Given the description of an element on the screen output the (x, y) to click on. 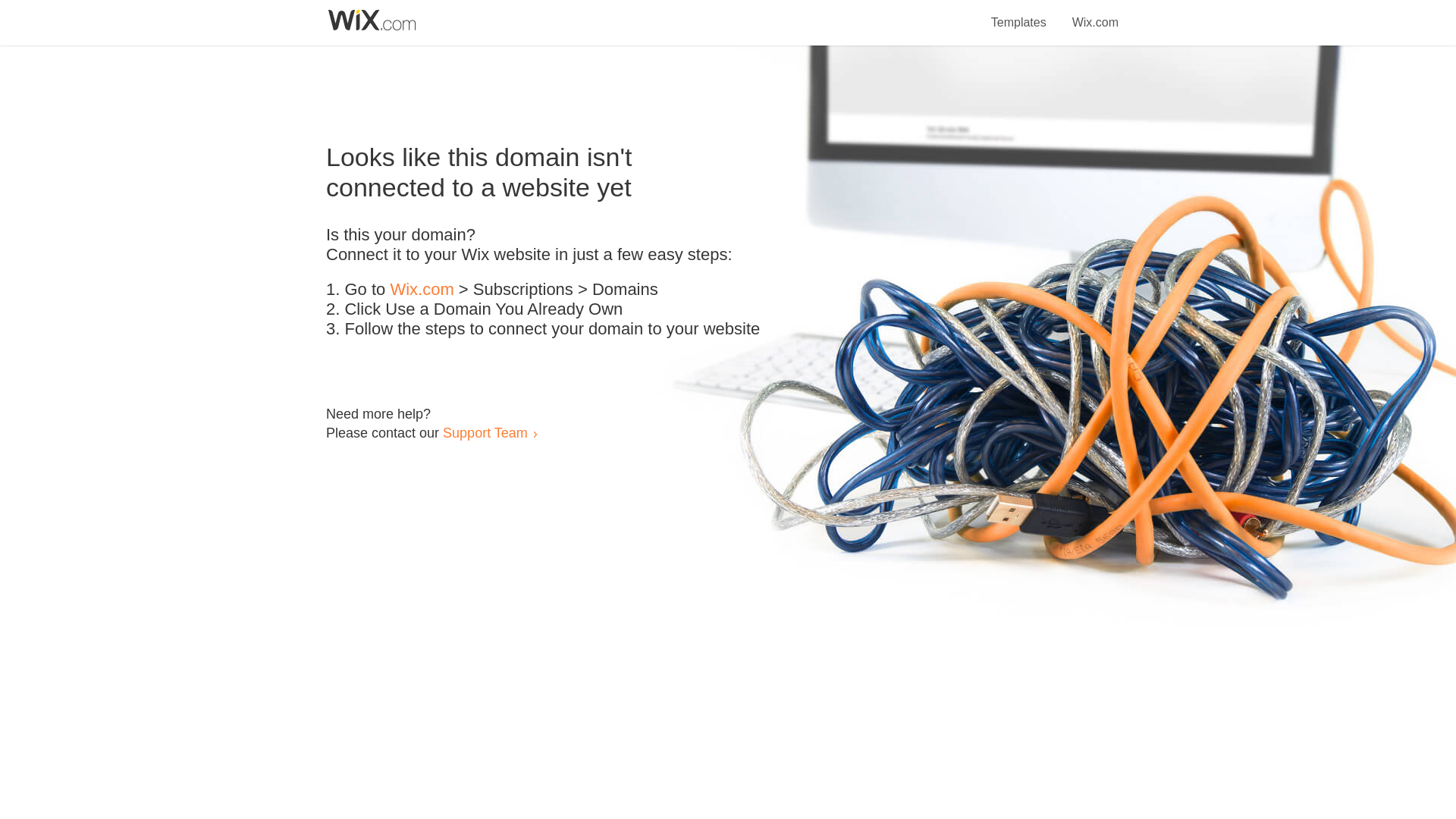
Wix.com (1095, 14)
Wix.com (421, 289)
Support Team (484, 432)
Templates (1018, 14)
